Given the description of an element on the screen output the (x, y) to click on. 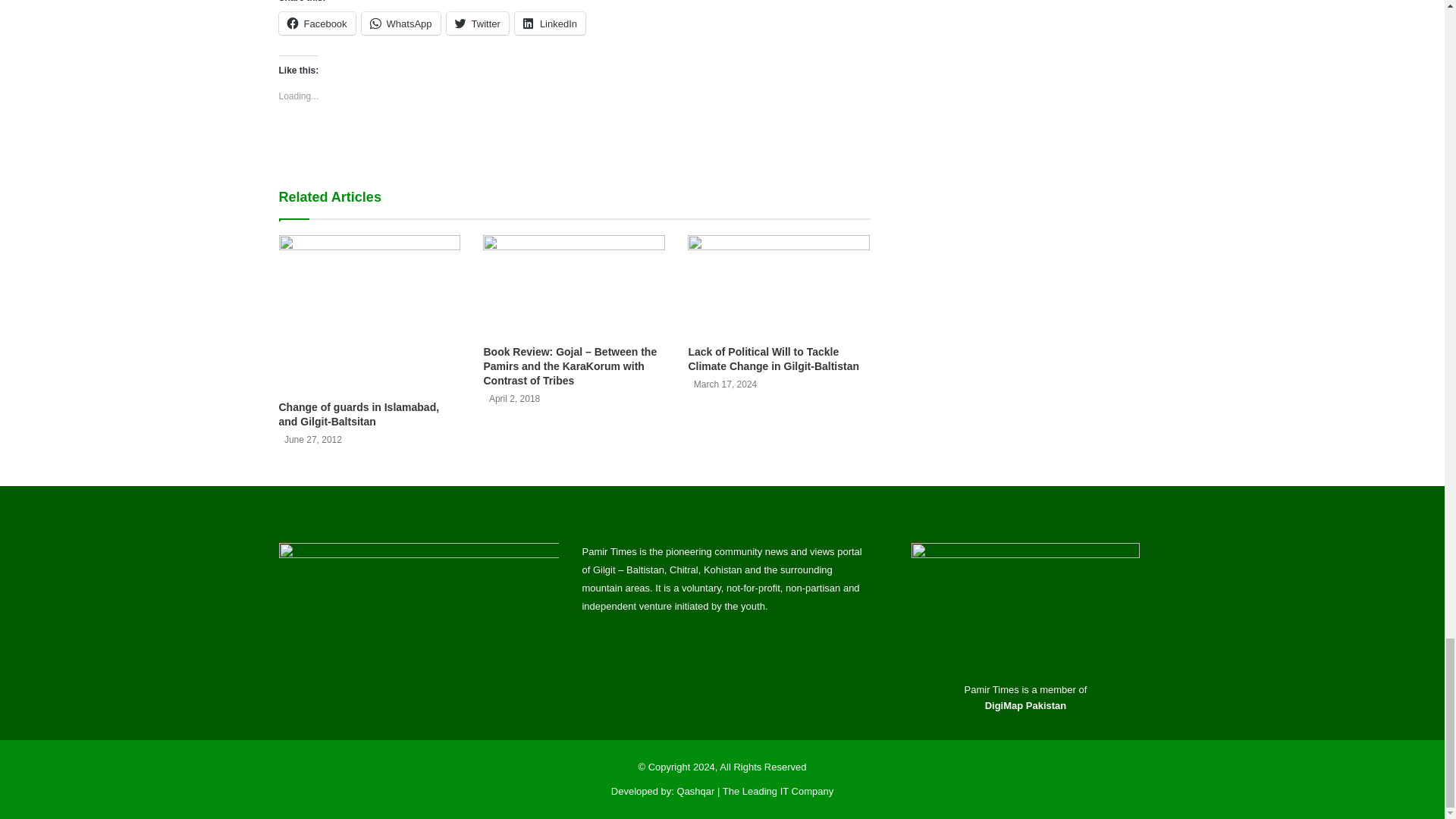
Click to share on Twitter (477, 23)
Facebook (317, 23)
Click to share on LinkedIn (550, 23)
WhatsApp (401, 23)
LinkedIn (550, 23)
Click to share on Facebook (317, 23)
Click to share on WhatsApp (401, 23)
Twitter (477, 23)
